Given the description of an element on the screen output the (x, y) to click on. 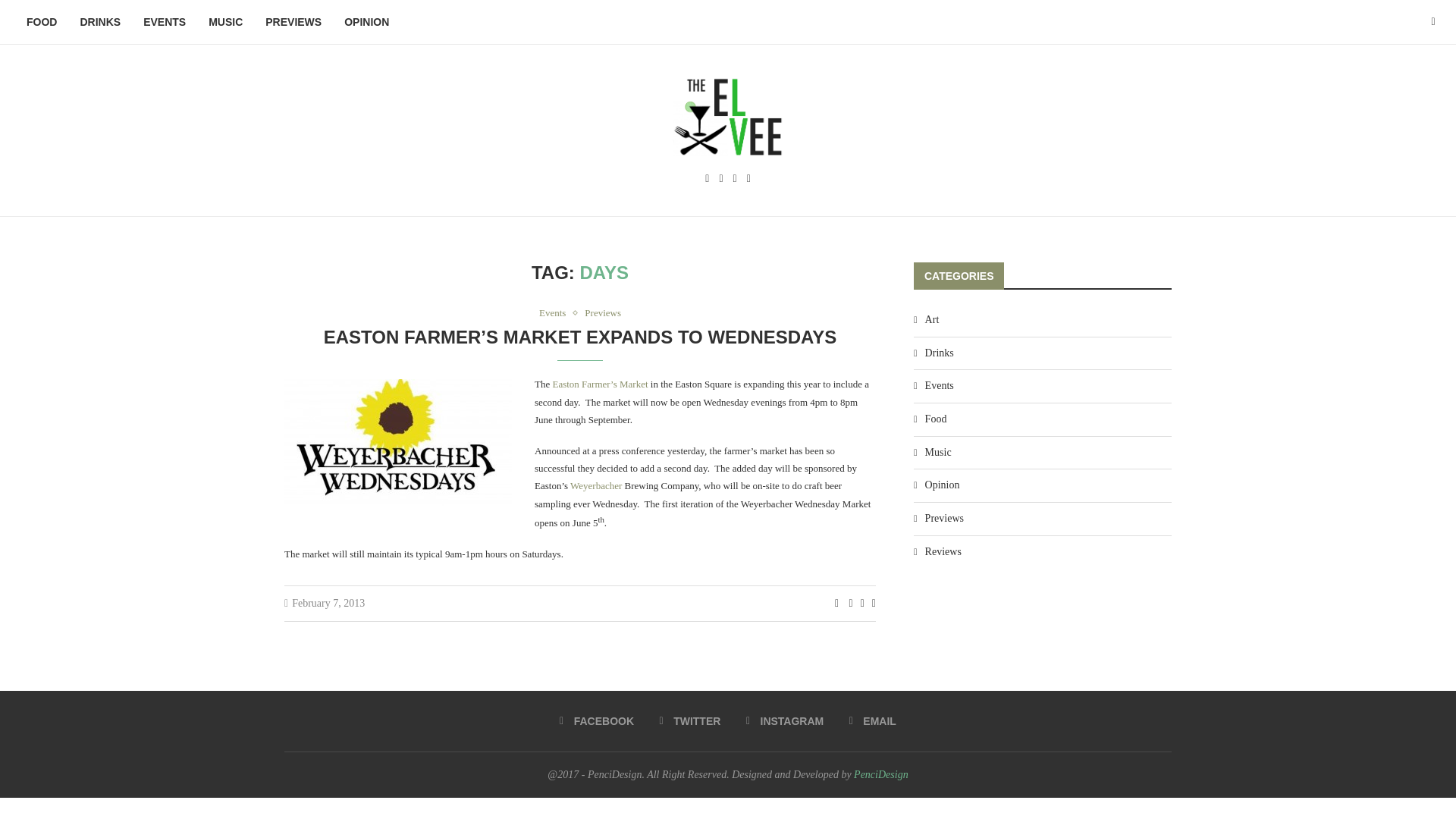
Weyerbacher (595, 485)
Previews (1042, 518)
Food (1042, 418)
Events (555, 313)
Events (1042, 385)
EVENTS (164, 22)
Music (1042, 452)
PenciDesign (880, 774)
PREVIEWS (293, 22)
Art (1042, 319)
efm (397, 442)
MUSIC (224, 22)
DRINKS (100, 22)
OPINION (366, 22)
Drinks (1042, 353)
